Given the description of an element on the screen output the (x, y) to click on. 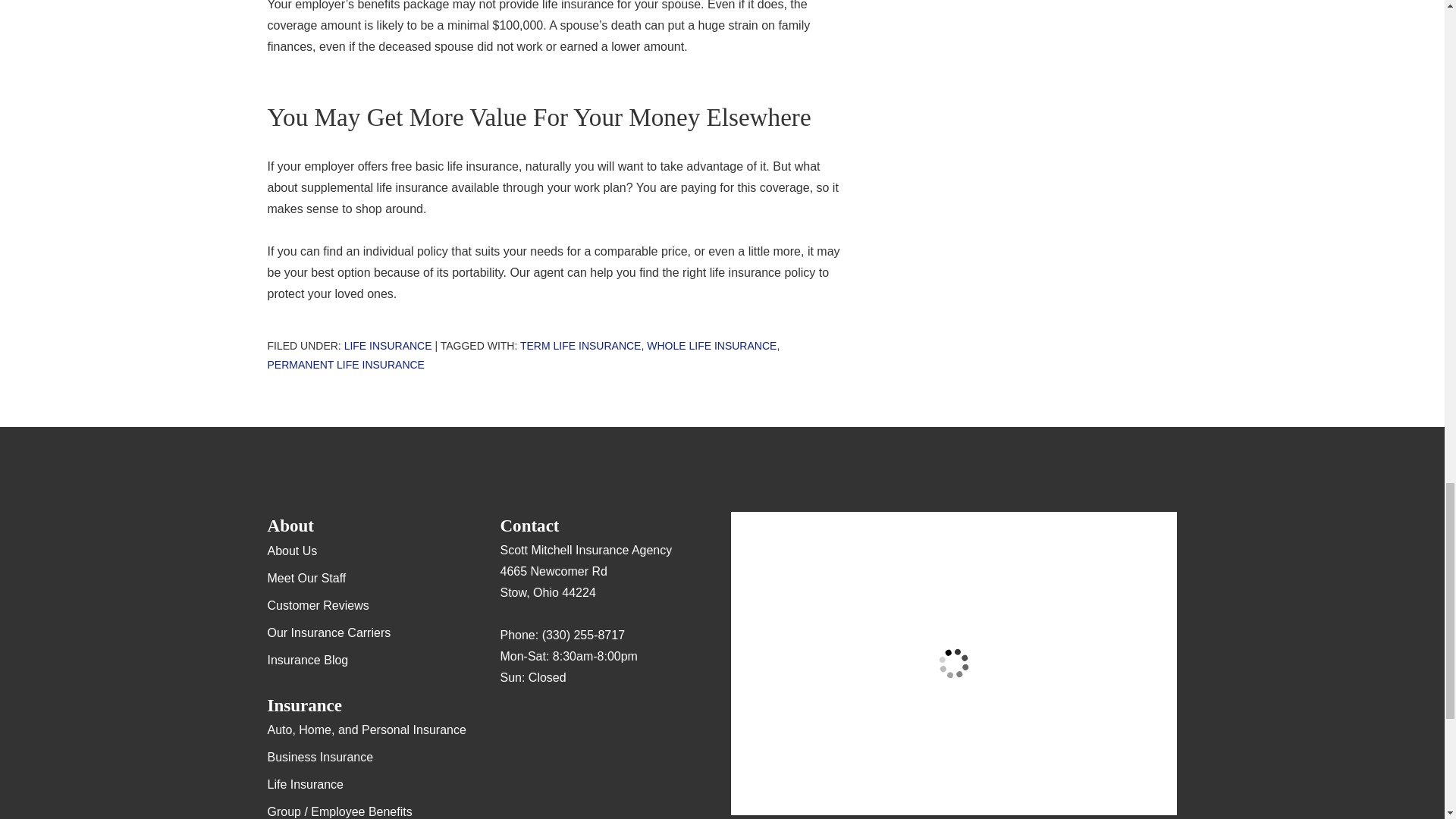
Whole Life Insurance (711, 345)
Permanent Life Insurance (344, 364)
Facebook (571, 722)
Yelp (541, 722)
Term Life Insurance (579, 345)
Google Maps (511, 722)
Life Insurance (387, 345)
